Given the description of an element on the screen output the (x, y) to click on. 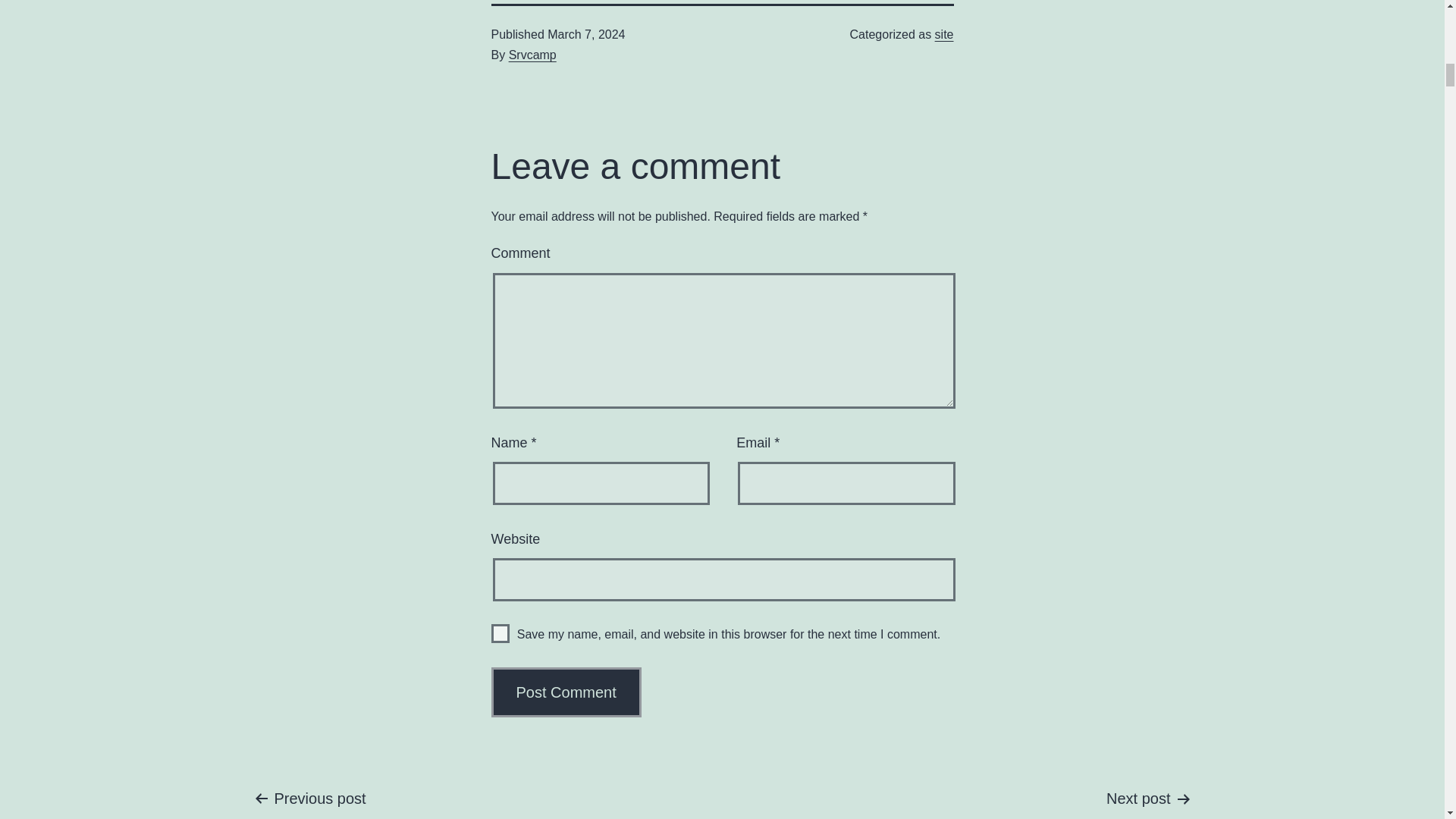
site (943, 33)
Post Comment (567, 692)
yes (500, 633)
Srvcamp (532, 54)
Post Comment (567, 692)
